Given the description of an element on the screen output the (x, y) to click on. 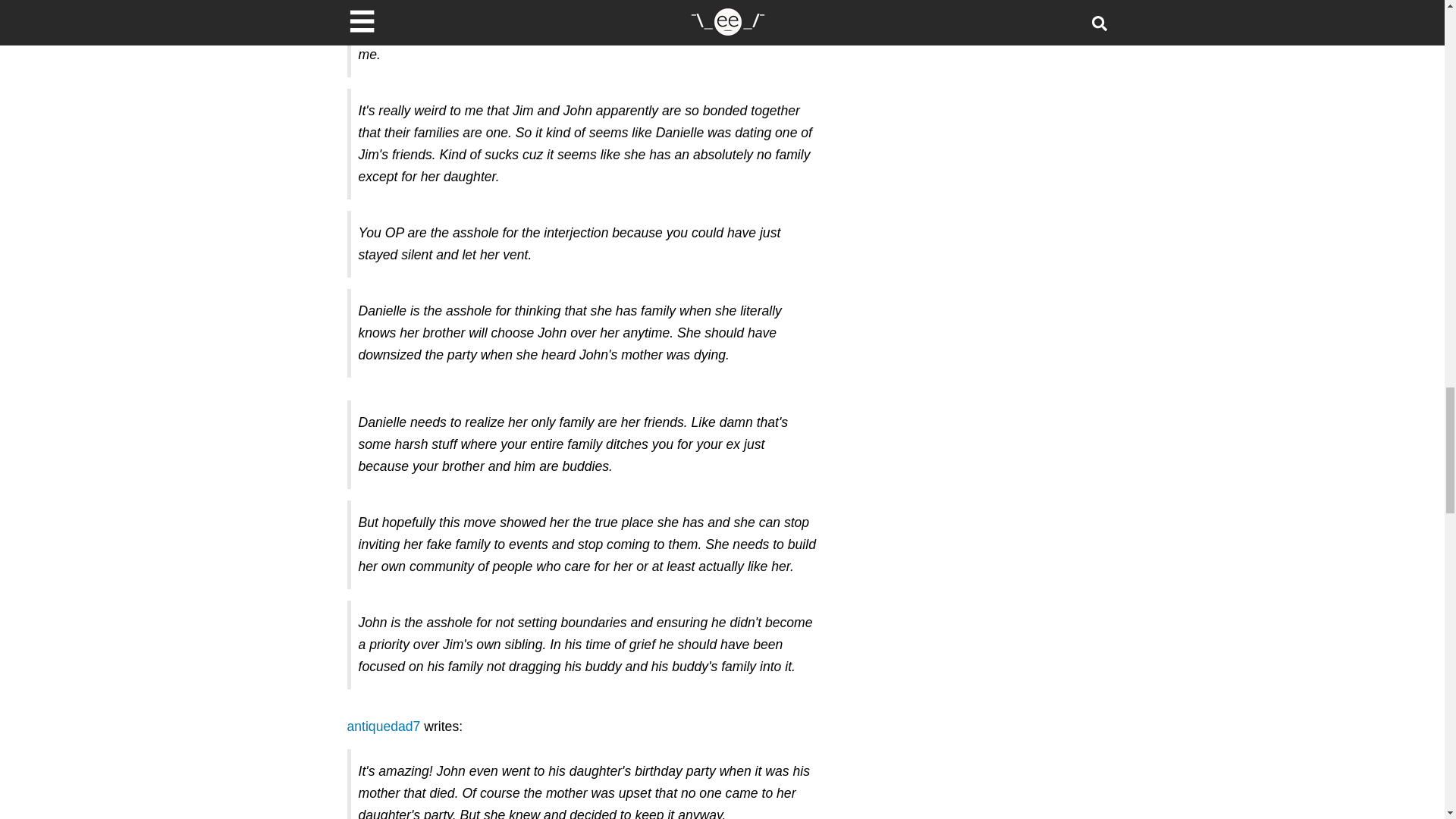
antiquedad7 (383, 726)
